Given the description of an element on the screen output the (x, y) to click on. 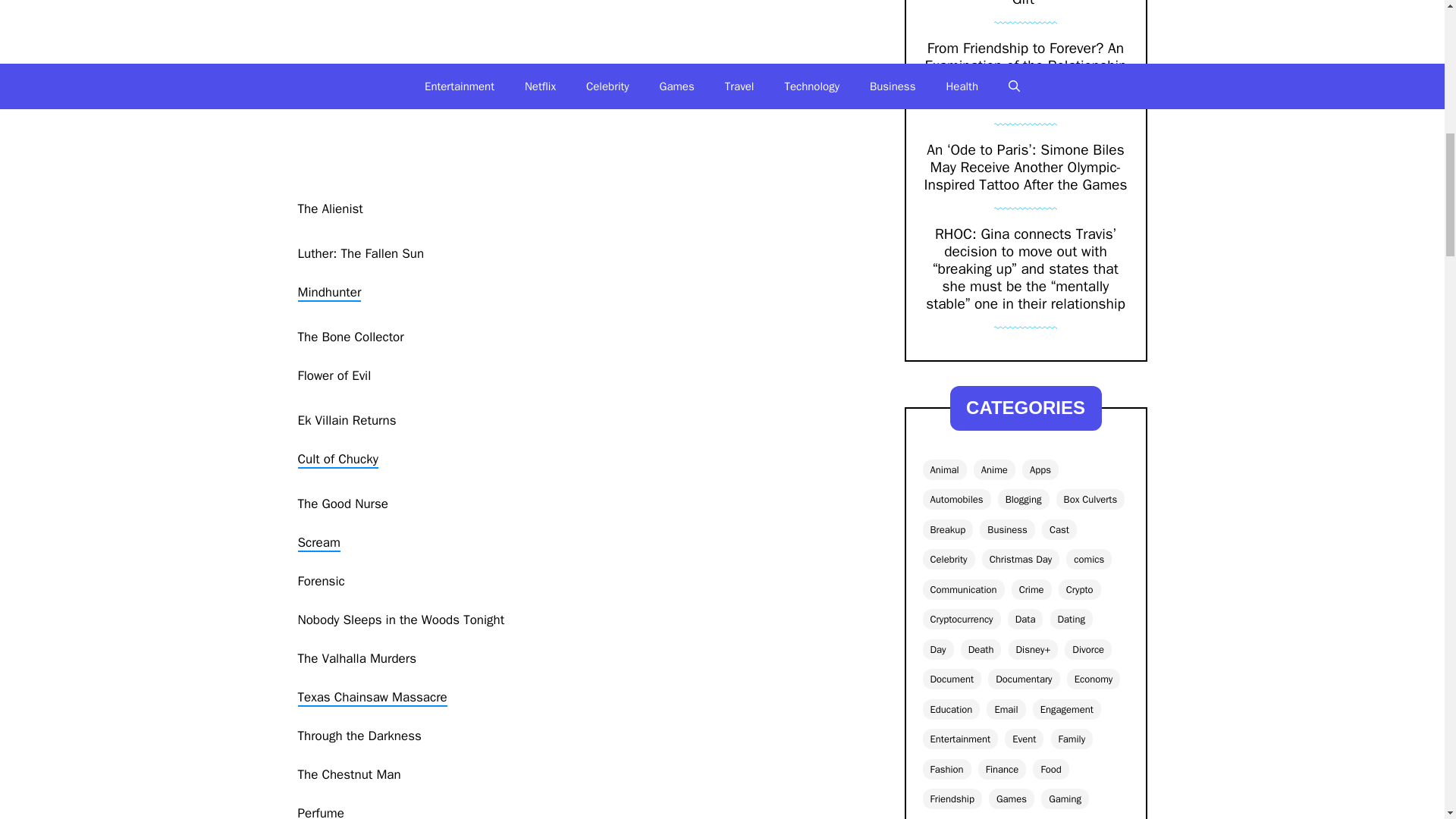
Advertisement (578, 96)
Scream (318, 543)
Cult of Chucky (337, 459)
Scroll back to top (1406, 720)
Mindhunter (329, 293)
Texas Chainsaw Massacre (371, 697)
